Given the description of an element on the screen output the (x, y) to click on. 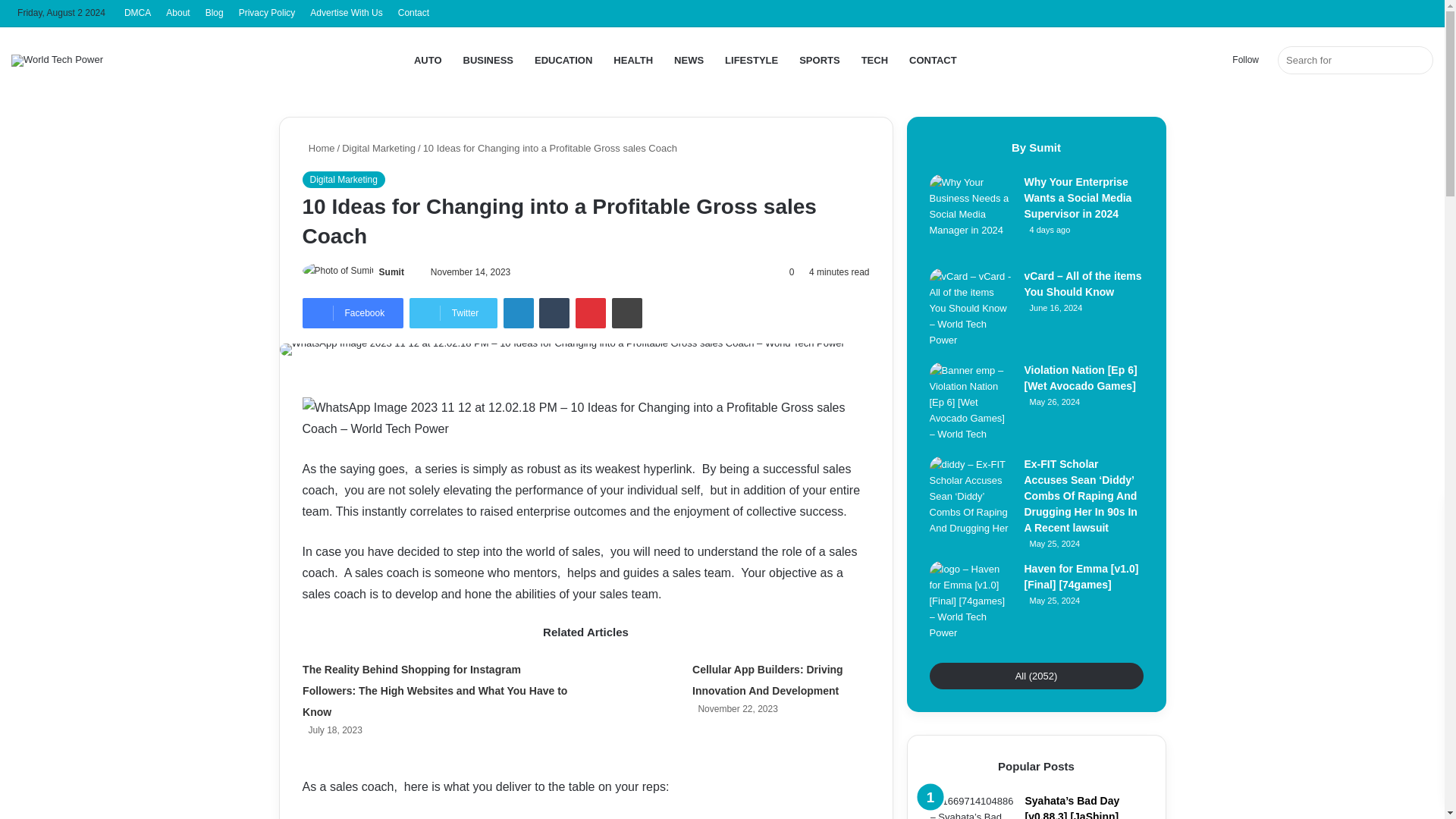
About (177, 13)
Privacy Policy (266, 13)
Blog (214, 13)
Twitter (453, 313)
EDUCATION (563, 60)
Advertise With Us (346, 13)
Home (317, 147)
SPORTS (819, 60)
Twitter (453, 313)
HEALTH (632, 60)
Sumit (391, 271)
LinkedIn (518, 313)
Digital Marketing (342, 179)
BUSINESS (488, 60)
Facebook (352, 313)
